Given the description of an element on the screen output the (x, y) to click on. 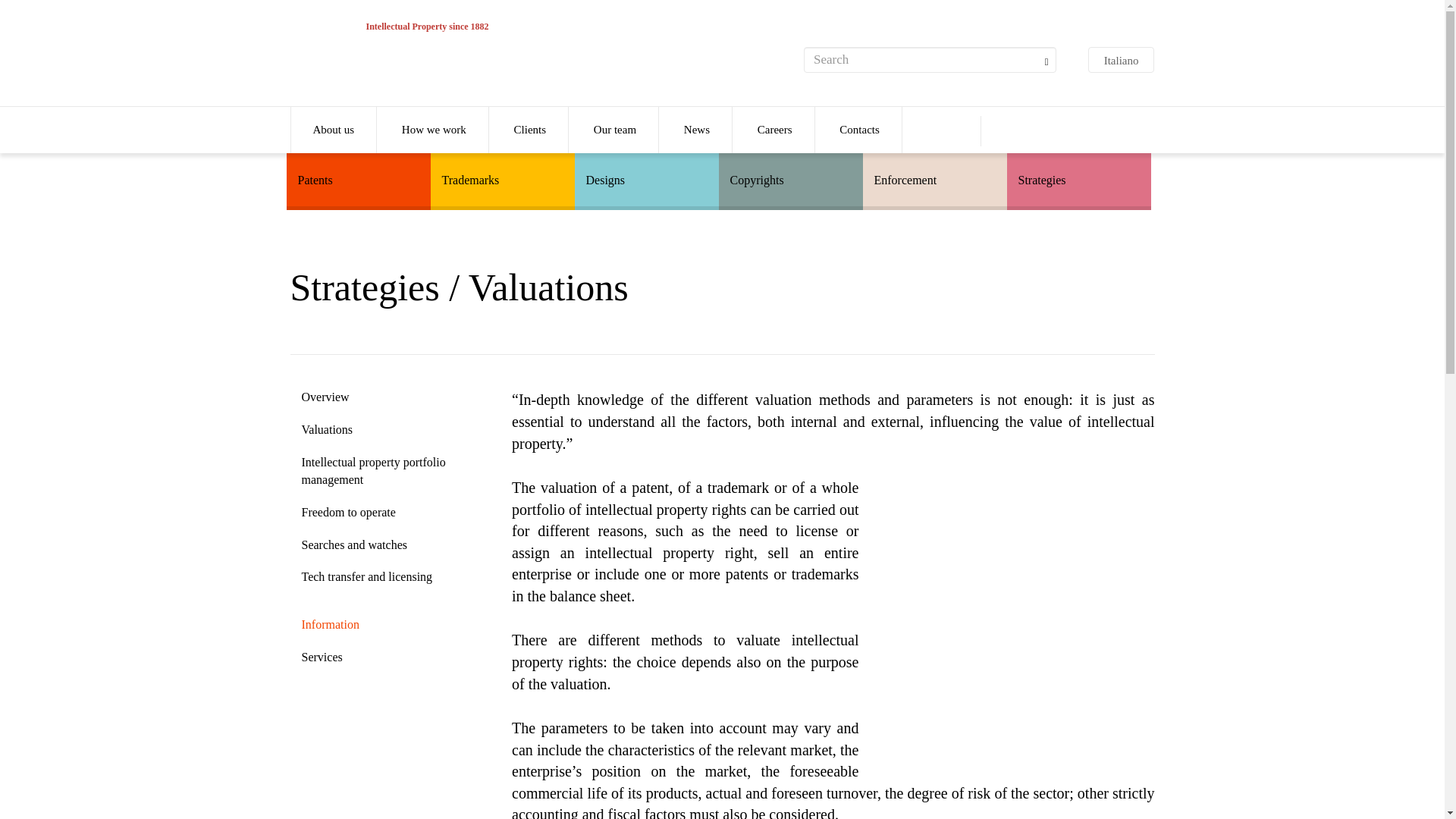
Valuations (389, 430)
Copyrights (791, 177)
Tech transfer and licensing (389, 577)
Designs (647, 177)
Patents (358, 177)
How we work (433, 130)
Searches and watches (389, 545)
Intellectual property portfolio management (389, 471)
Enforcement (935, 177)
Strategies (1079, 177)
